Given the description of an element on the screen output the (x, y) to click on. 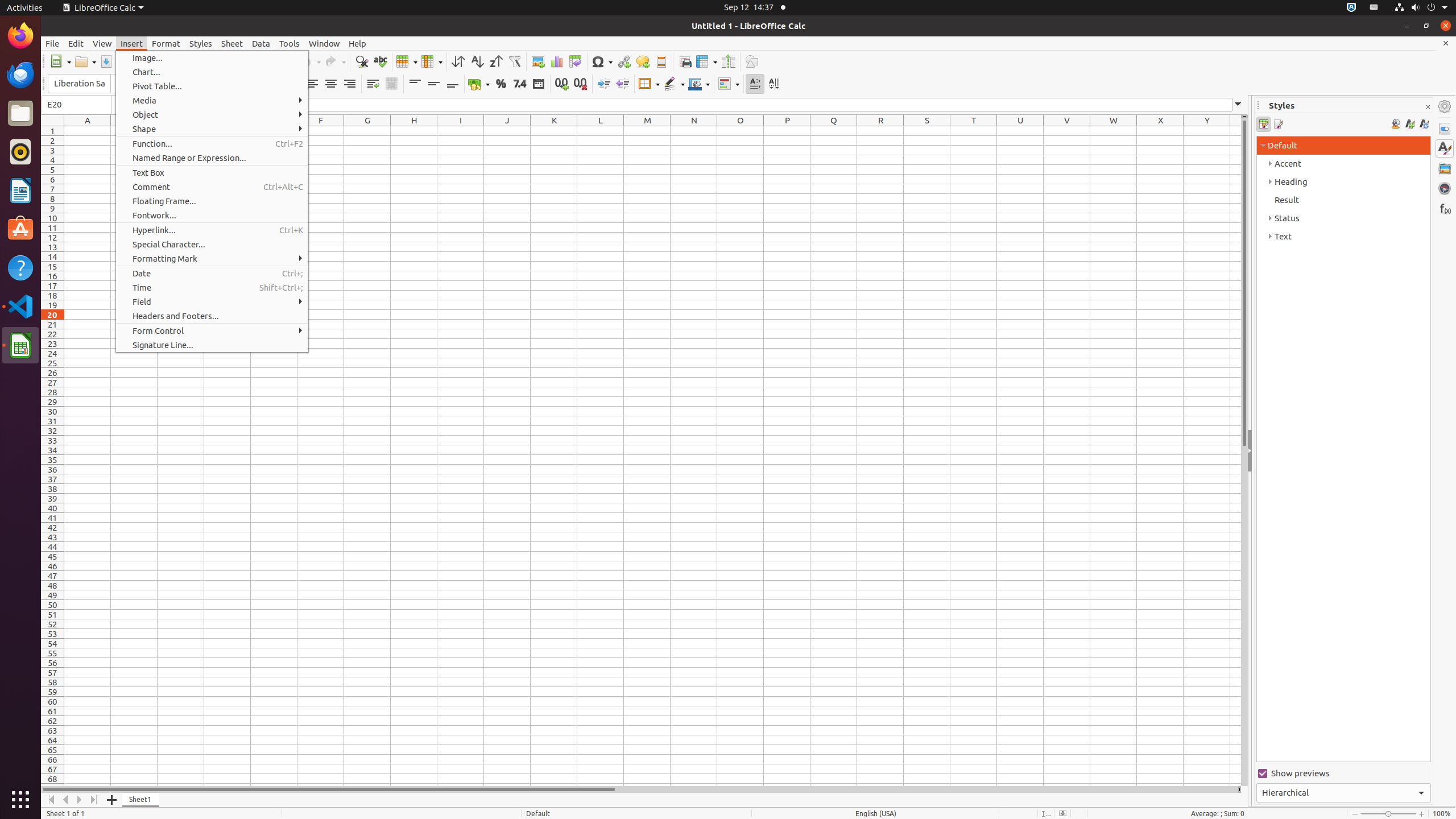
V1 Element type: table-cell (1066, 130)
T1 Element type: table-cell (973, 130)
AutoFilter Element type: push-button (514, 61)
Border Color Element type: push-button (698, 83)
Chart Element type: push-button (556, 61)
